Given the description of an element on the screen output the (x, y) to click on. 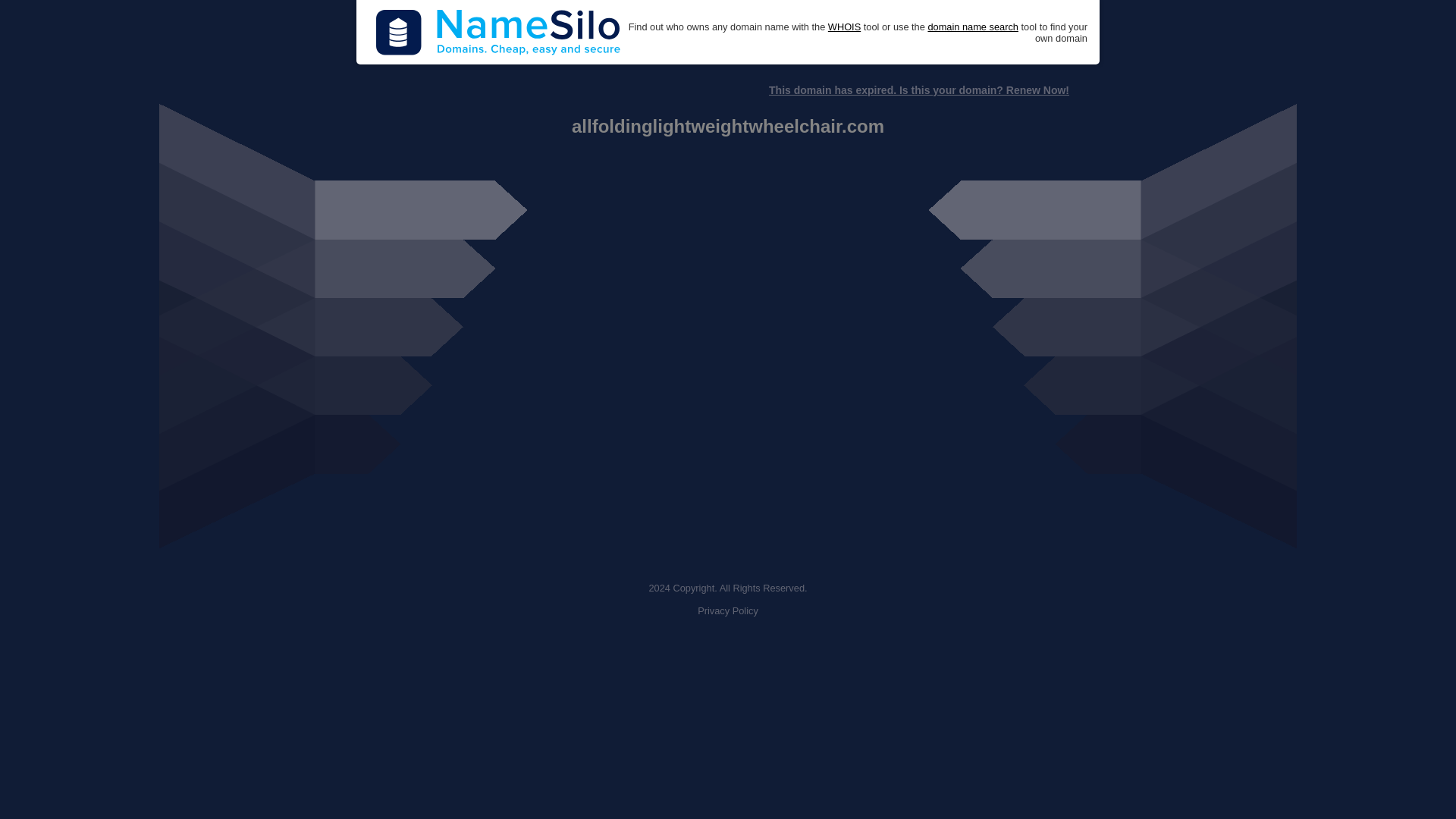
WHOIS (844, 26)
domain name search (972, 26)
This domain has expired. Is this your domain? Renew Now! (918, 90)
Privacy Policy (727, 610)
